Given the description of an element on the screen output the (x, y) to click on. 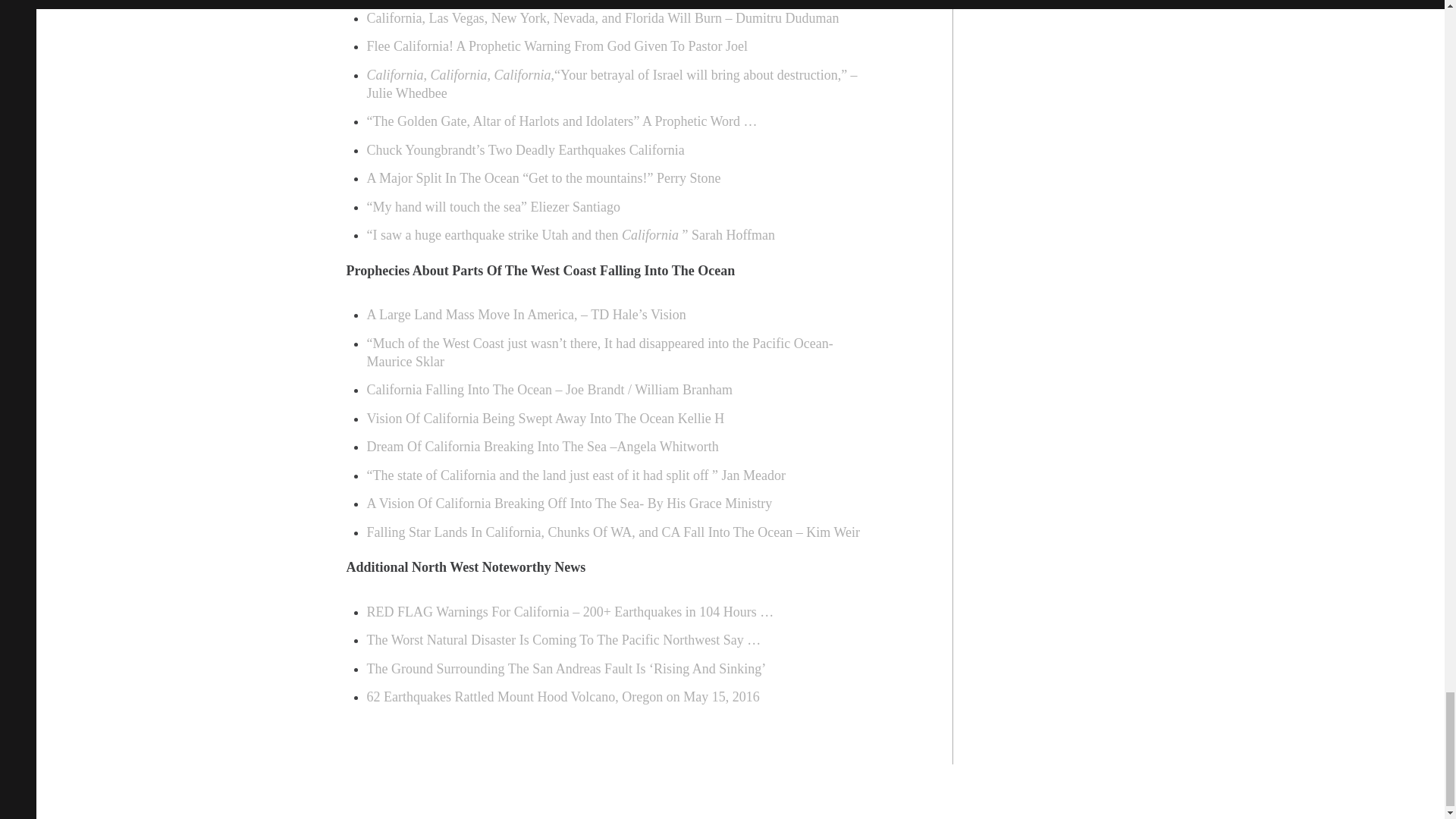
Kellie H (700, 418)
Vision Of California Being Swept Away Into The Ocean  (522, 418)
Vision Of California Being Swept Away Into The Ocean (522, 418)
Kellie H (700, 418)
Angela Whitworth (668, 446)
